Given the description of an element on the screen output the (x, y) to click on. 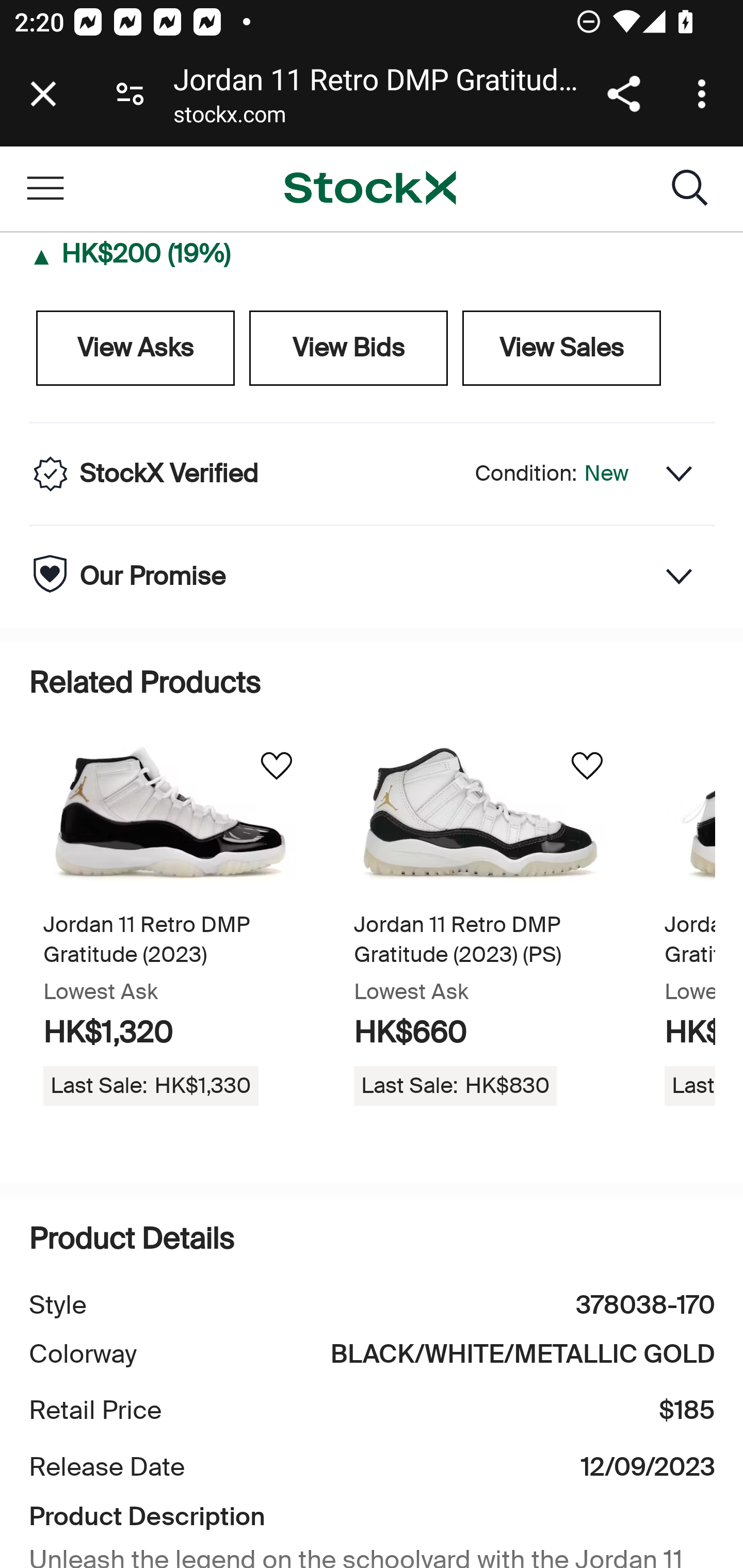
Close tab (43, 93)
Share link address (623, 93)
Customize and control Google Chrome (705, 93)
Connection is secure (129, 93)
stockx.com (229, 117)
